Given the description of an element on the screen output the (x, y) to click on. 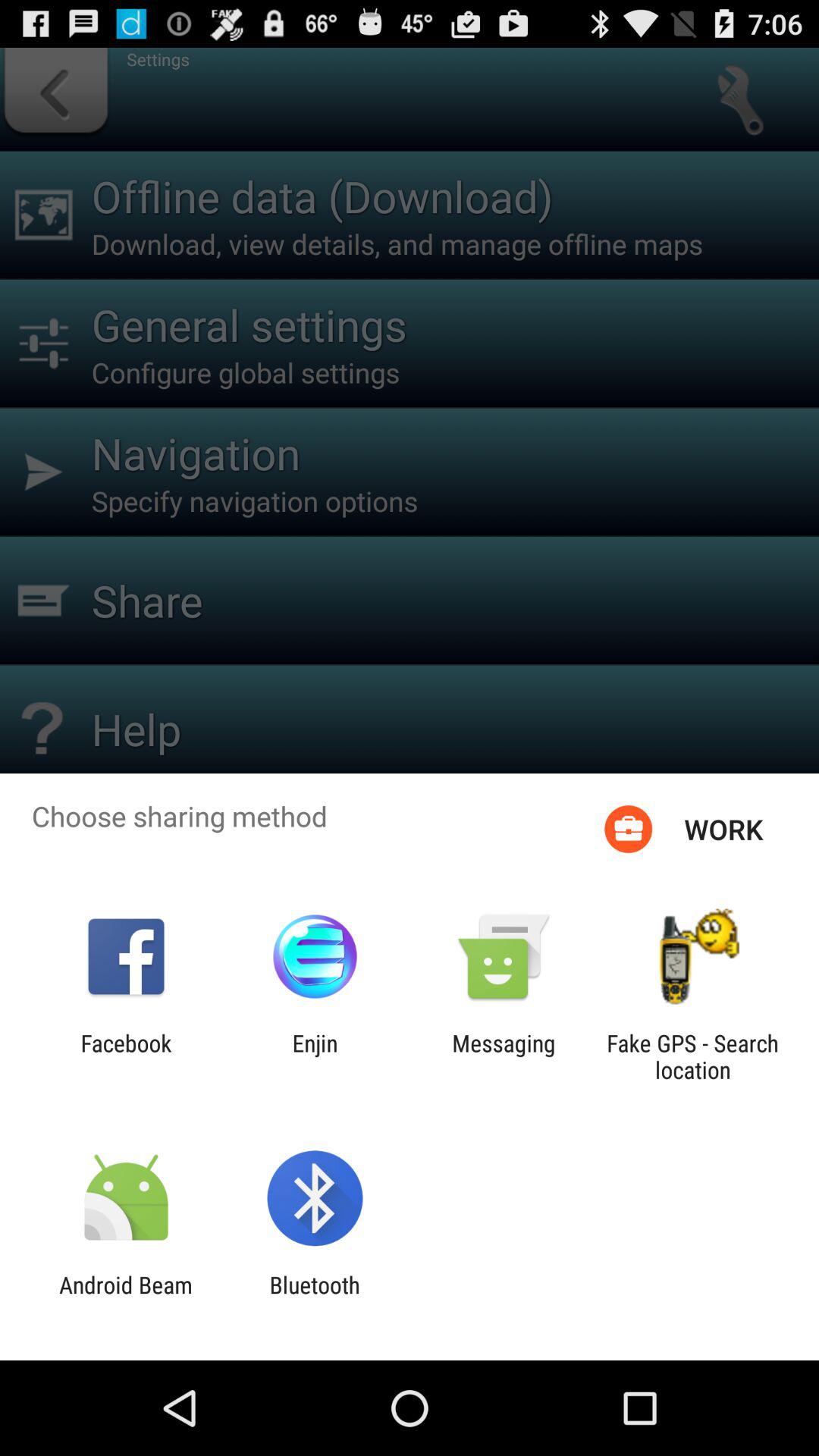
press icon next to the android beam app (314, 1298)
